Given the description of an element on the screen output the (x, y) to click on. 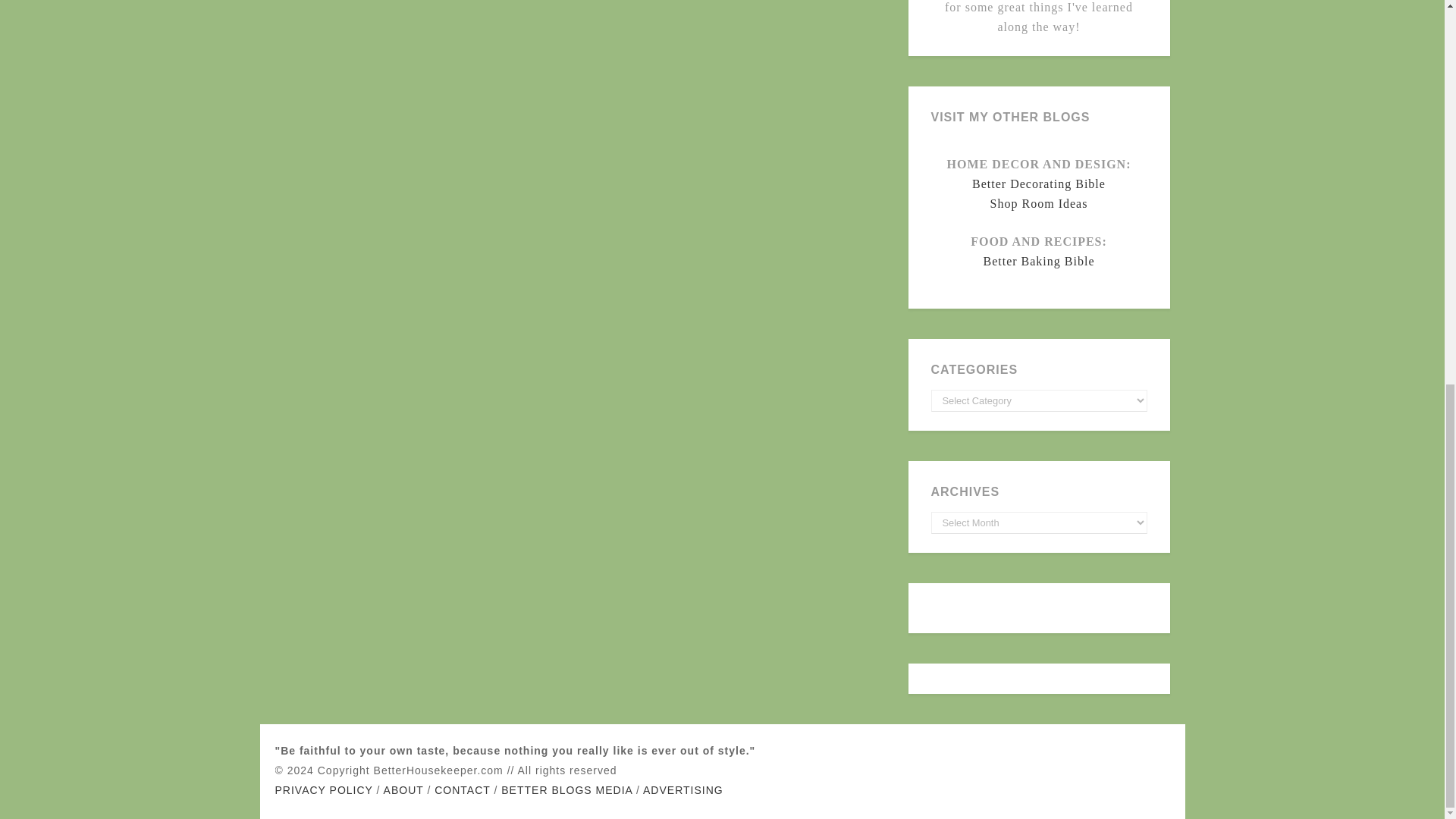
PRIVACY POLICY (323, 789)
CONTACT (461, 789)
BETTER BLOGS MEDIA (565, 789)
ABOUT (403, 789)
ADVERTISING (683, 789)
